Given the description of an element on the screen output the (x, y) to click on. 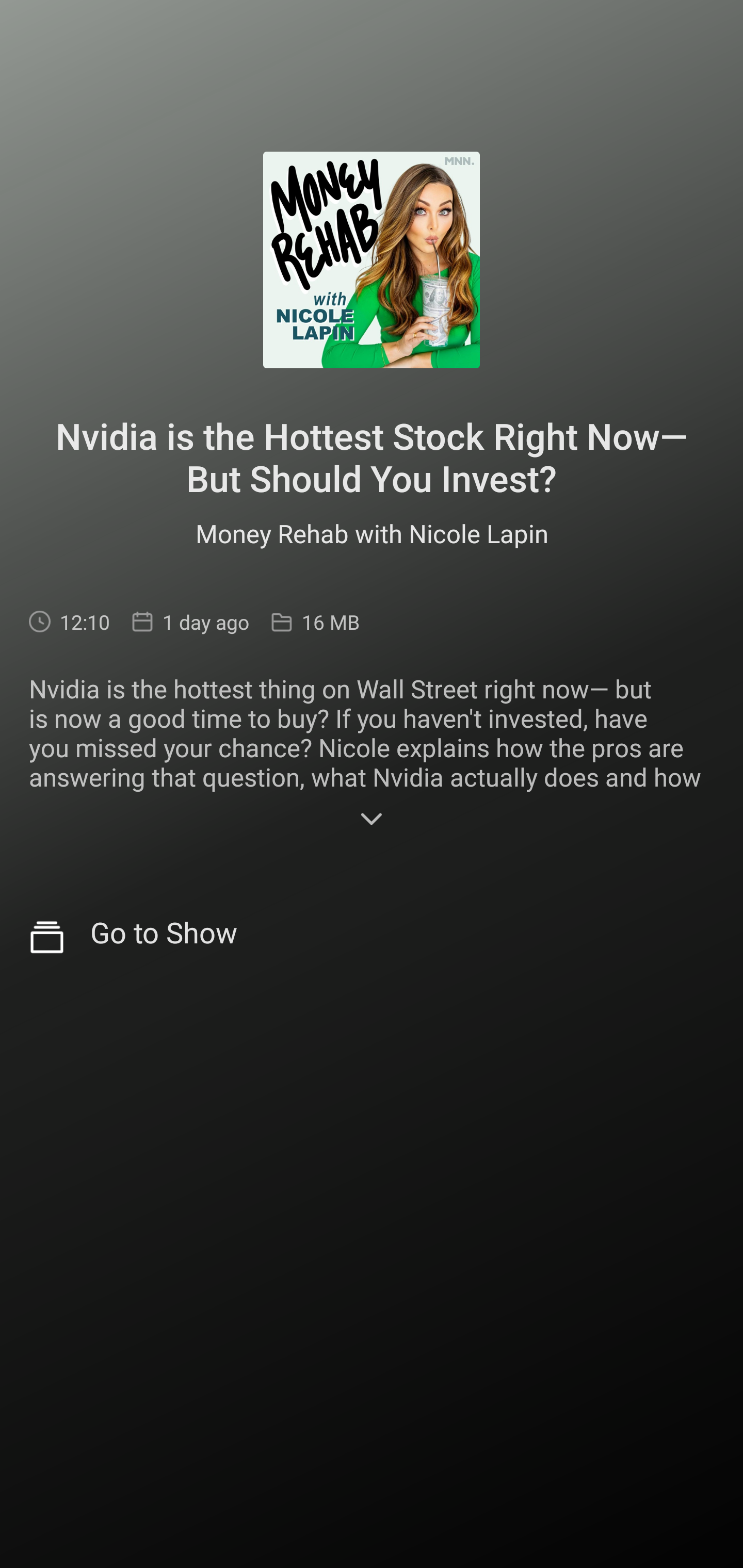
 (371, 821)
Go to Show (371, 937)
